Given the description of an element on the screen output the (x, y) to click on. 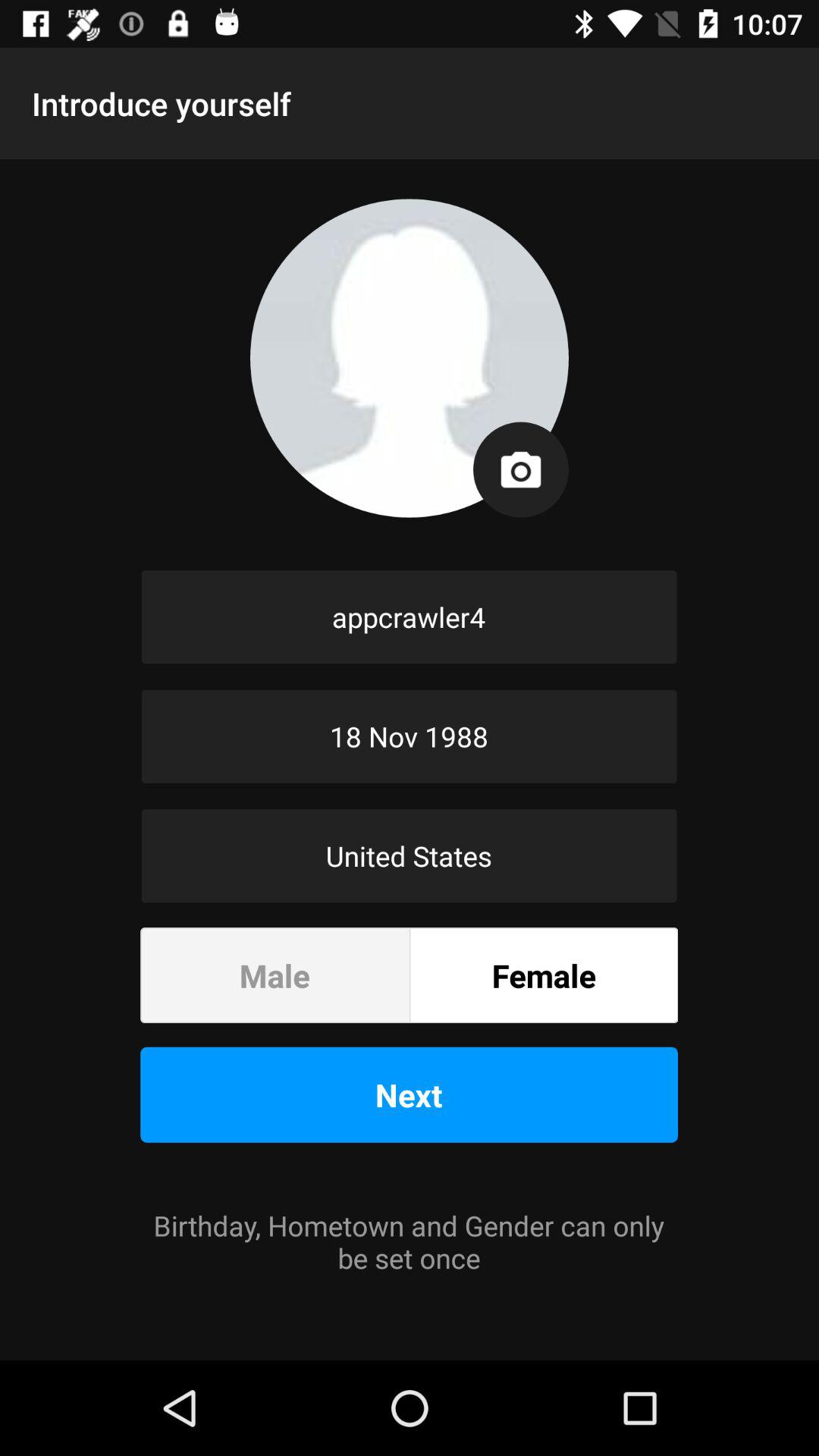
select the item above the 18 nov 1988 item (408, 616)
